Given the description of an element on the screen output the (x, y) to click on. 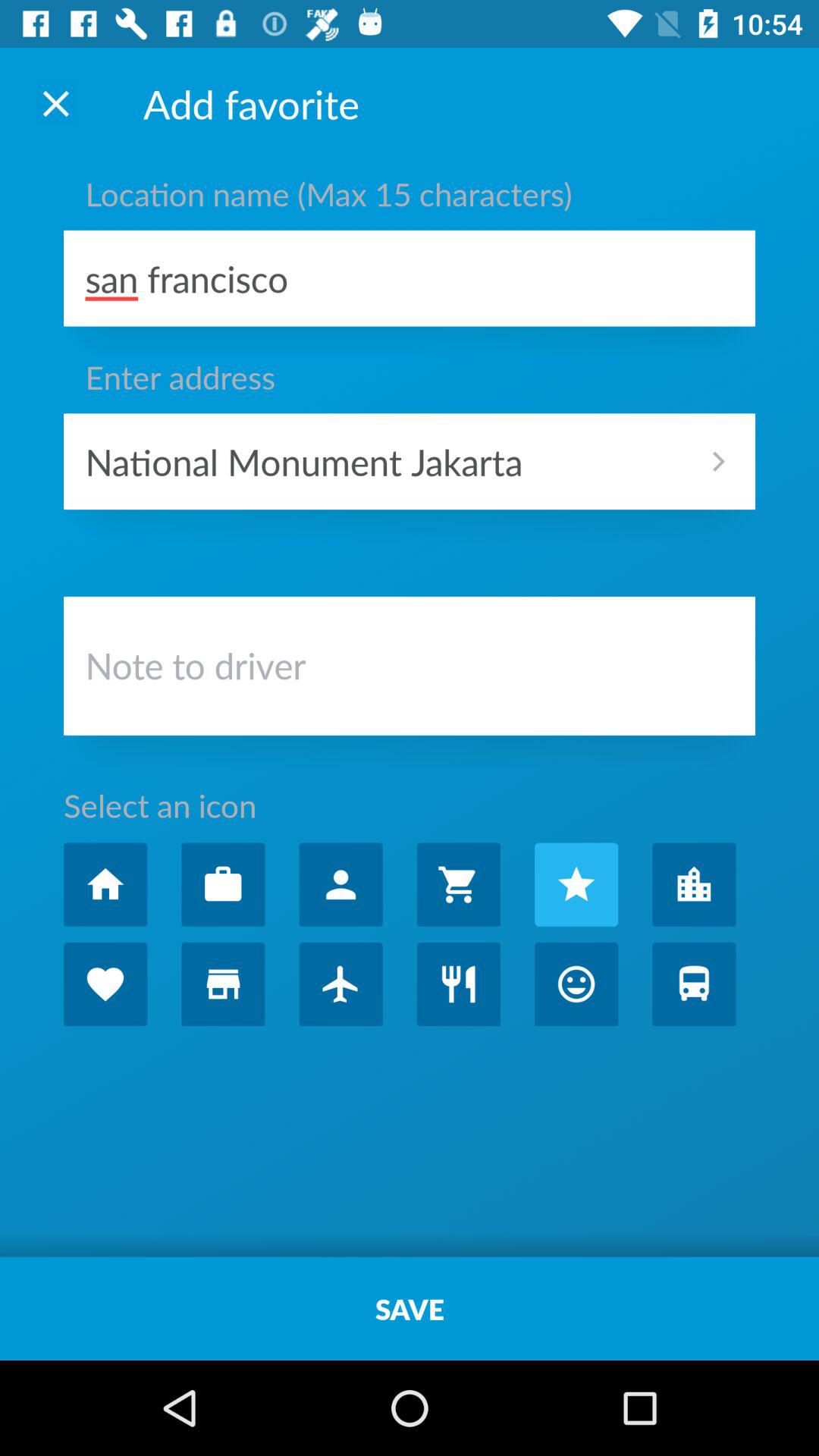
select icon (576, 884)
